Given the description of an element on the screen output the (x, y) to click on. 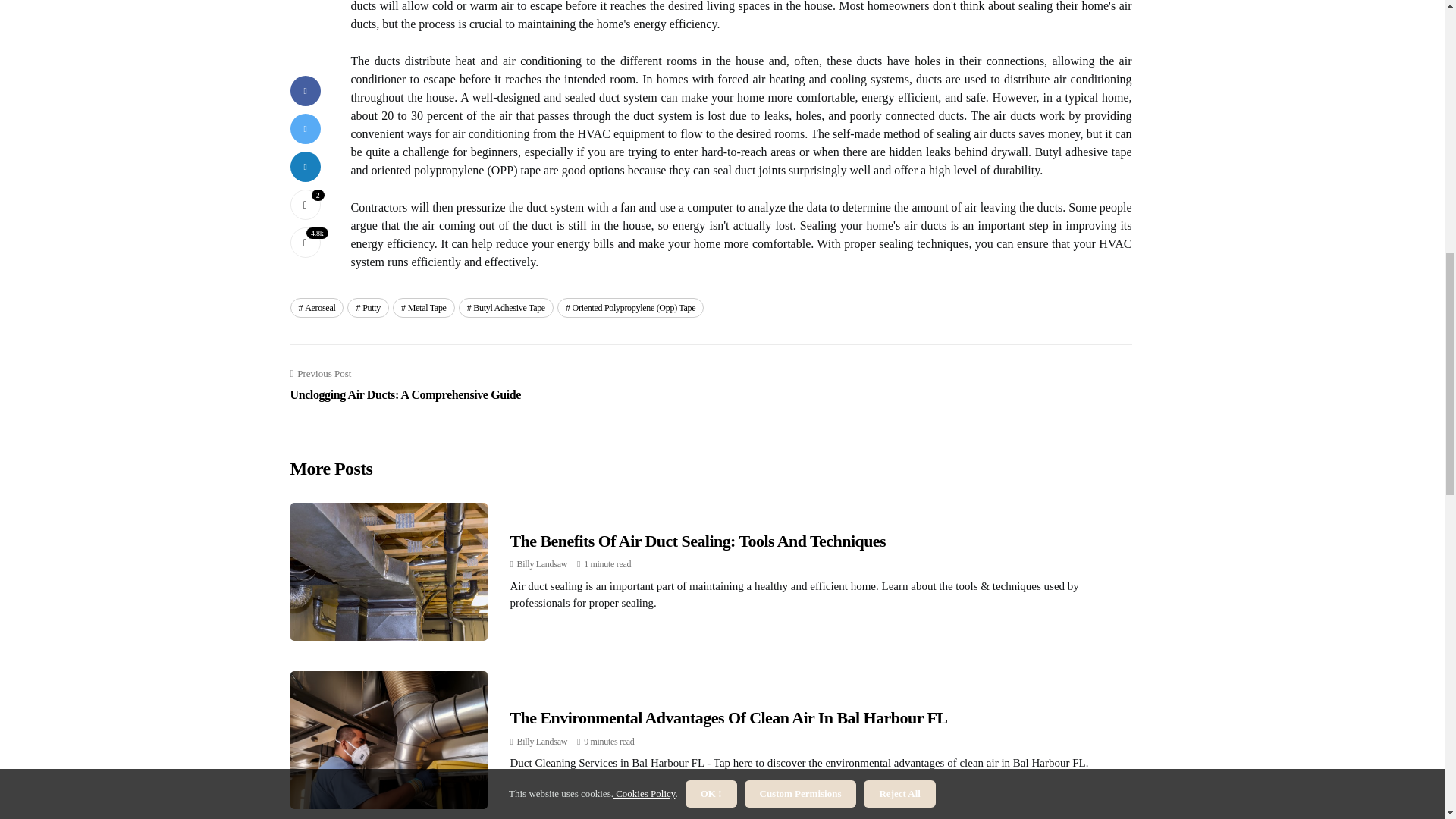
Putty (367, 307)
Butyl Adhesive Tape (505, 307)
Billy Landsaw (541, 563)
Billy Landsaw (541, 741)
Metal Tape (423, 307)
Posts by Billy Landsaw (541, 563)
The Benefits Of Air Duct Sealing: Tools And Techniques (697, 540)
Aeroseal (316, 307)
Posts by Billy Landsaw (541, 741)
